Given the description of an element on the screen output the (x, y) to click on. 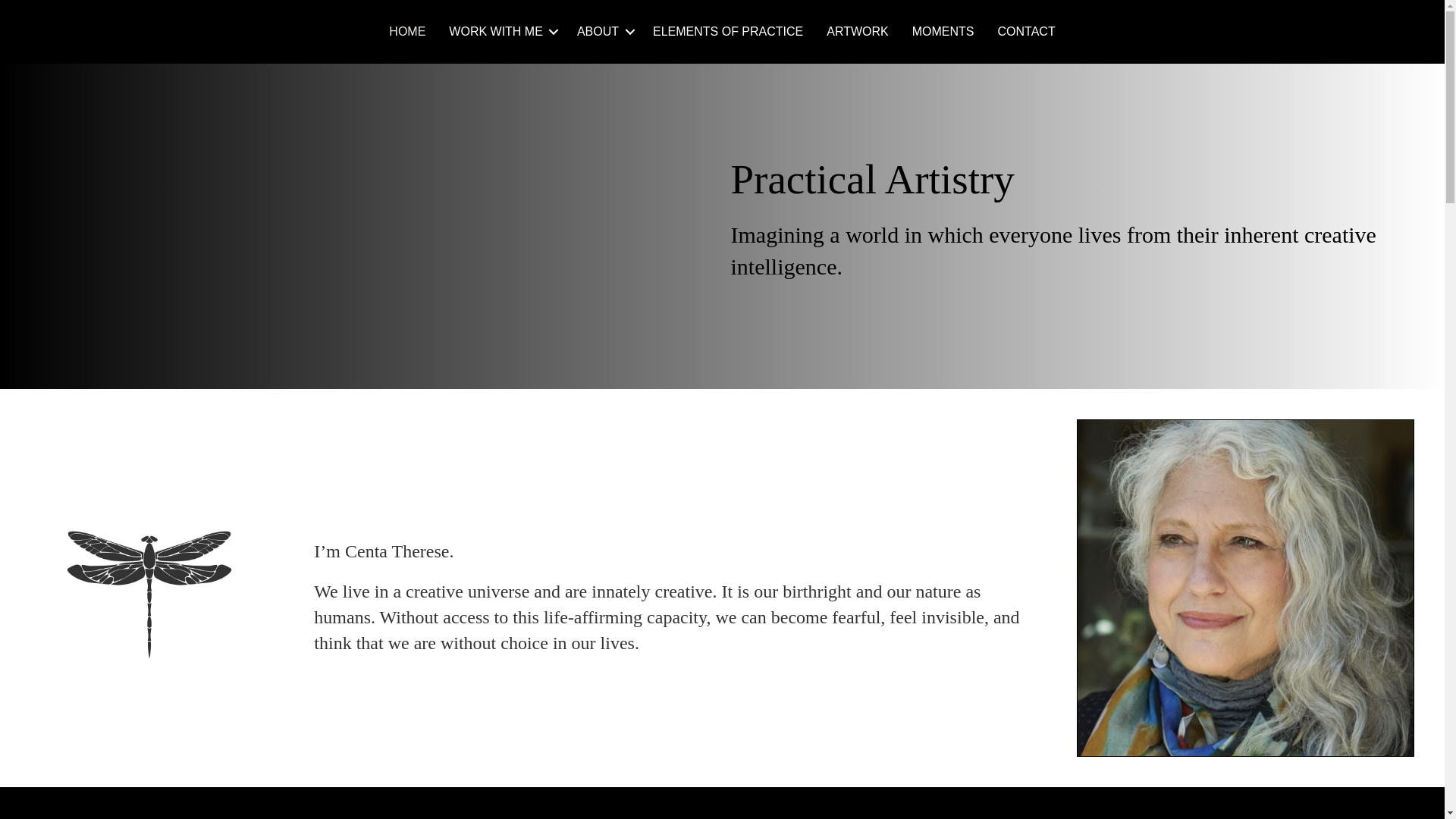
MOMENTS (943, 31)
IMG-4918 (1245, 587)
CONTACT (1027, 31)
WORK WITH ME (501, 31)
HOME (406, 31)
ABOUT (603, 31)
ELEMENTS OF PRACTICE (727, 31)
ARTWORK (857, 31)
